Given the description of an element on the screen output the (x, y) to click on. 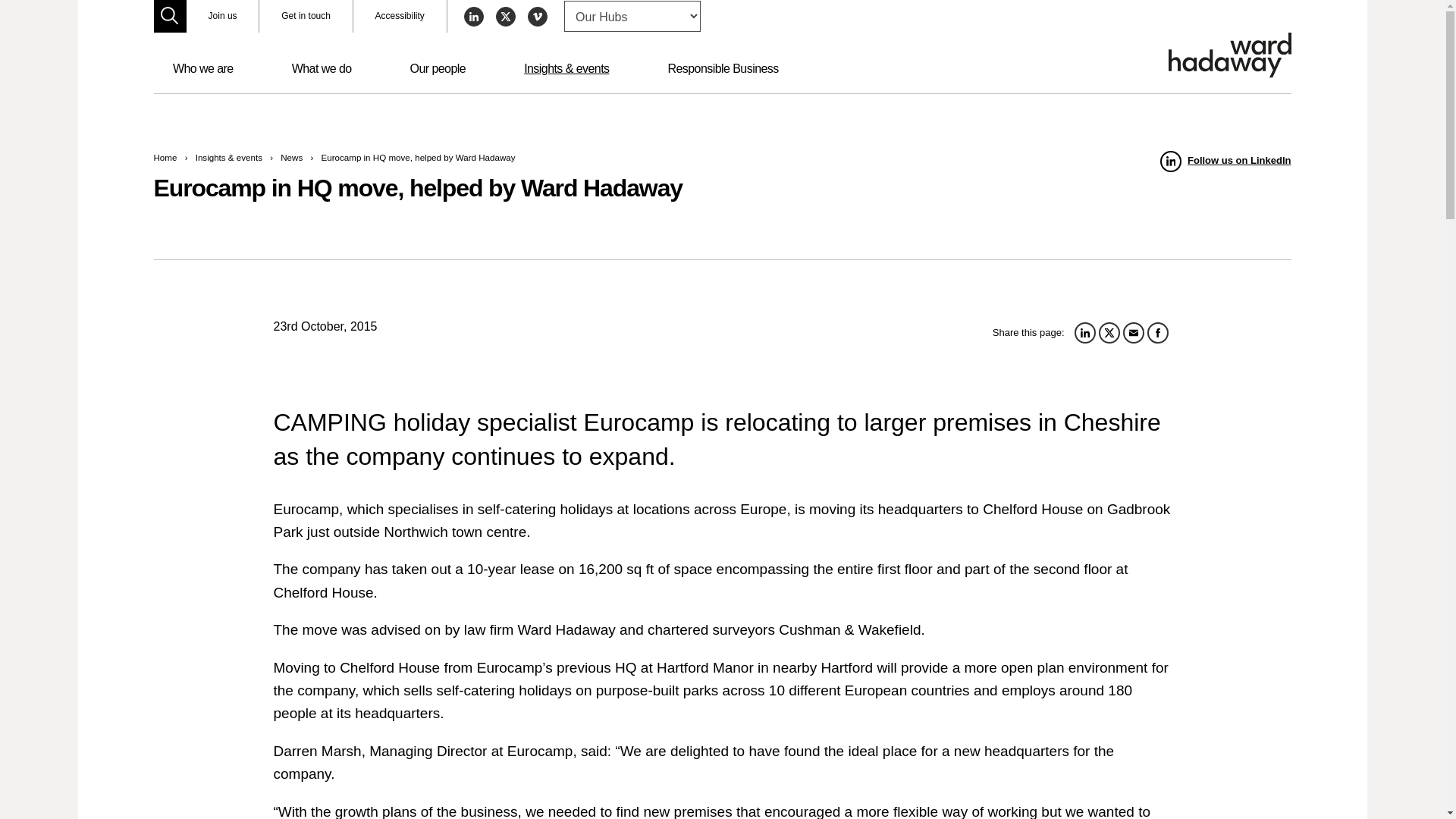
Follow us on LinkedIn (1225, 160)
Accessibility (399, 16)
Share this article on LinkedIn (1084, 332)
Get in touch (305, 16)
Home (164, 157)
Join us (222, 16)
Follow Ward Hadaway on LinkedIn (1225, 160)
Return to the Ward Hadaway homepage (1228, 54)
Follow Ward Hadaway on Vimeo (537, 16)
News (291, 157)
Join us (222, 16)
Follow Ward Hadaway on Twitter (505, 16)
Share this article on twitter (1108, 332)
Accessibility (399, 16)
What we do (321, 68)
